Given the description of an element on the screen output the (x, y) to click on. 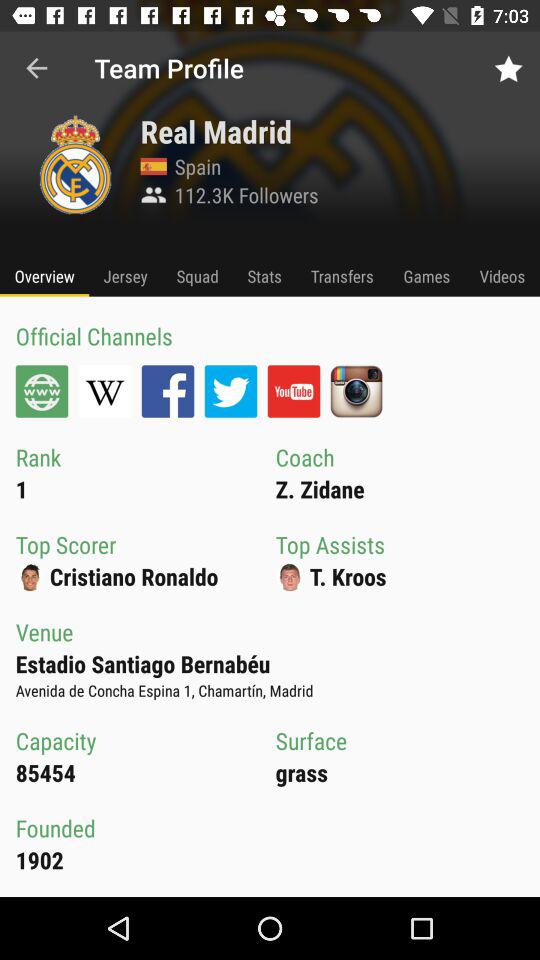
create your official channel (41, 391)
